Given the description of an element on the screen output the (x, y) to click on. 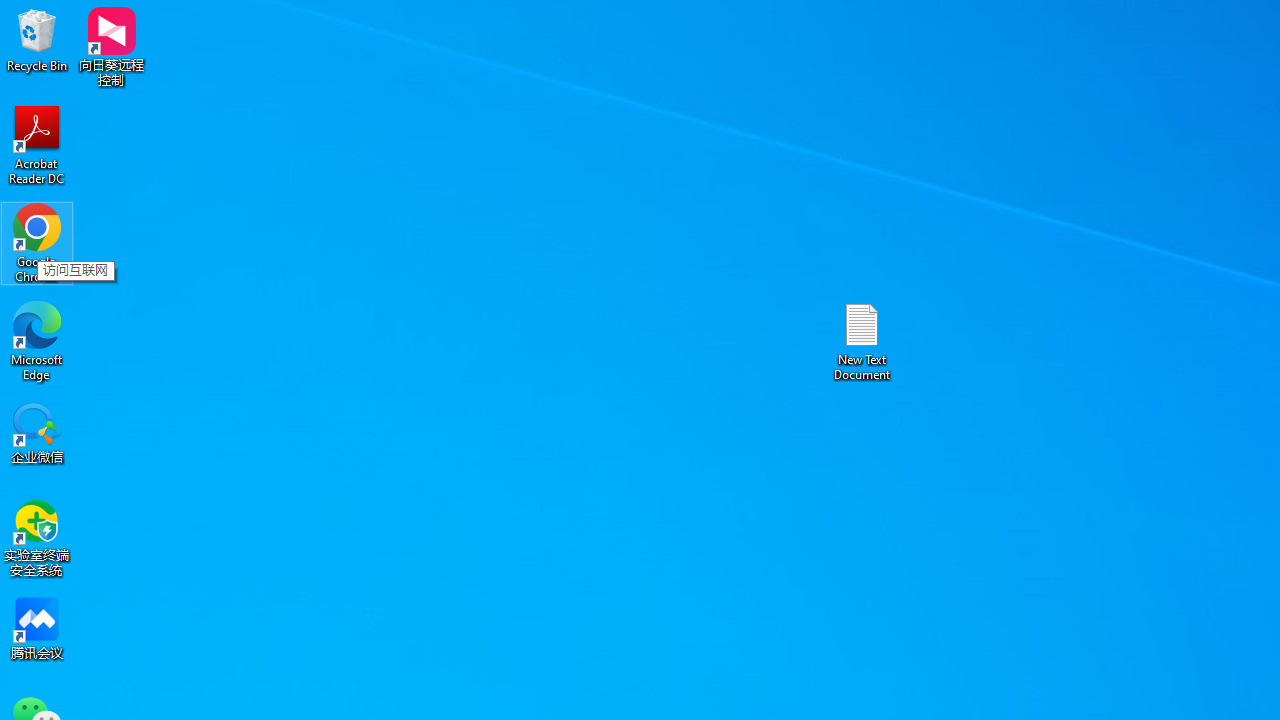
Recycle Bin (37, 39)
New Text Document (861, 340)
Microsoft Edge (37, 340)
Google Chrome (37, 242)
Acrobat Reader DC (37, 144)
